Given the description of an element on the screen output the (x, y) to click on. 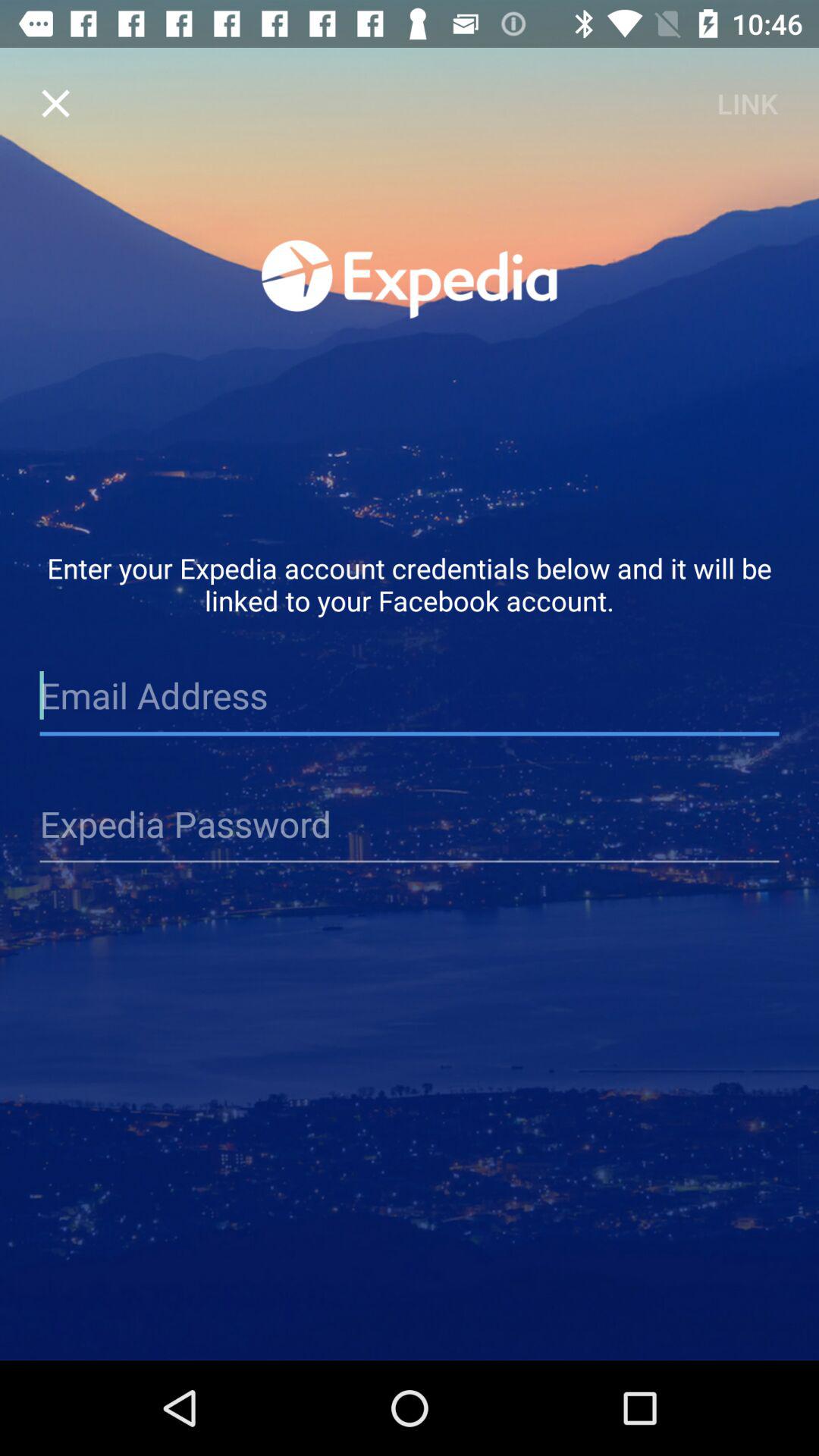
open the link at the top right corner (747, 103)
